Given the description of an element on the screen output the (x, y) to click on. 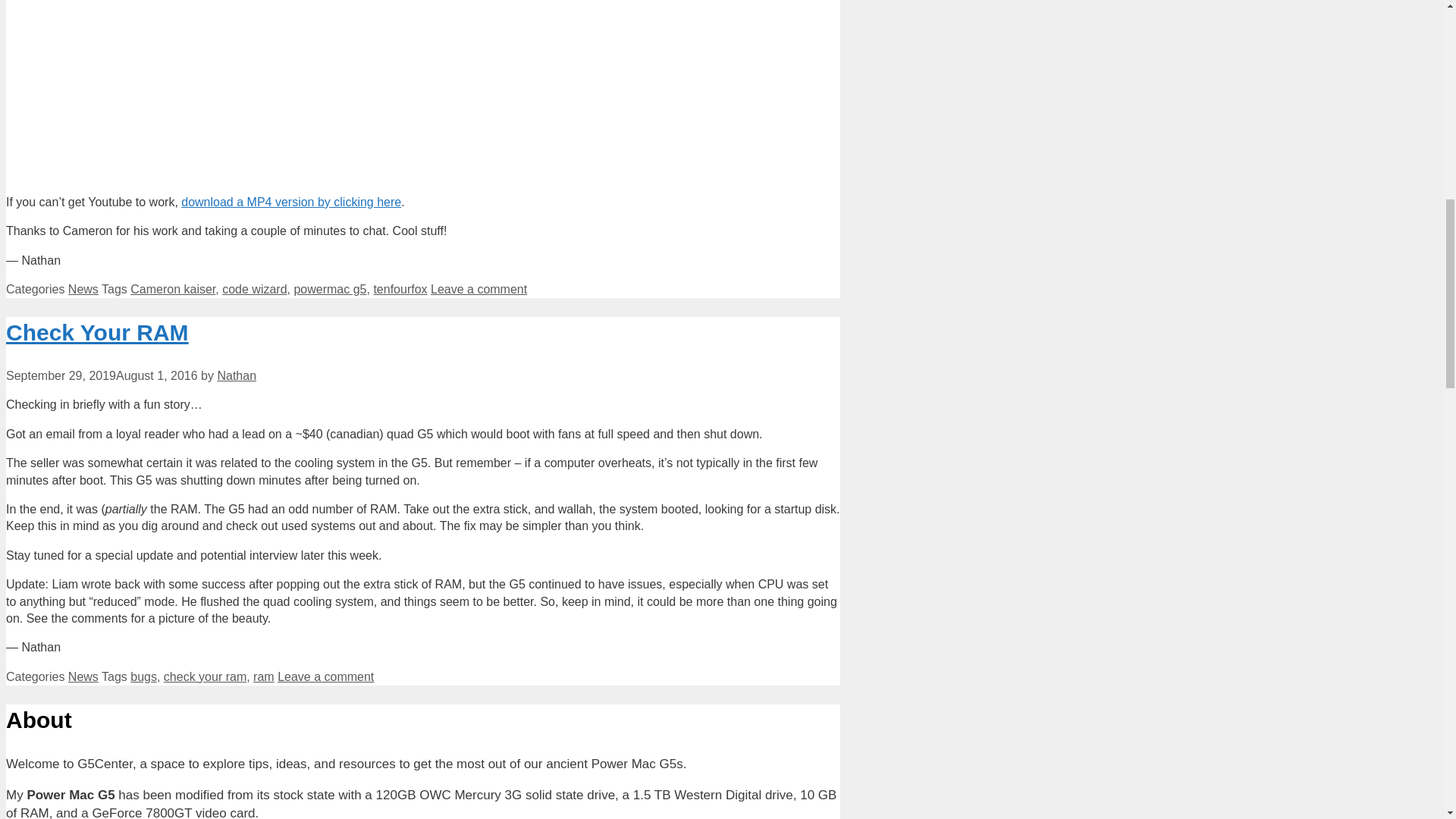
download a MP4 version by clicking here (290, 201)
tenfourfox (399, 288)
Check Your RAM (97, 332)
check your ram (204, 676)
News (83, 676)
Leave a comment (478, 288)
Cameron kaiser (173, 288)
powermac g5 (330, 288)
code wizard (254, 288)
News (83, 288)
